Given the description of an element on the screen output the (x, y) to click on. 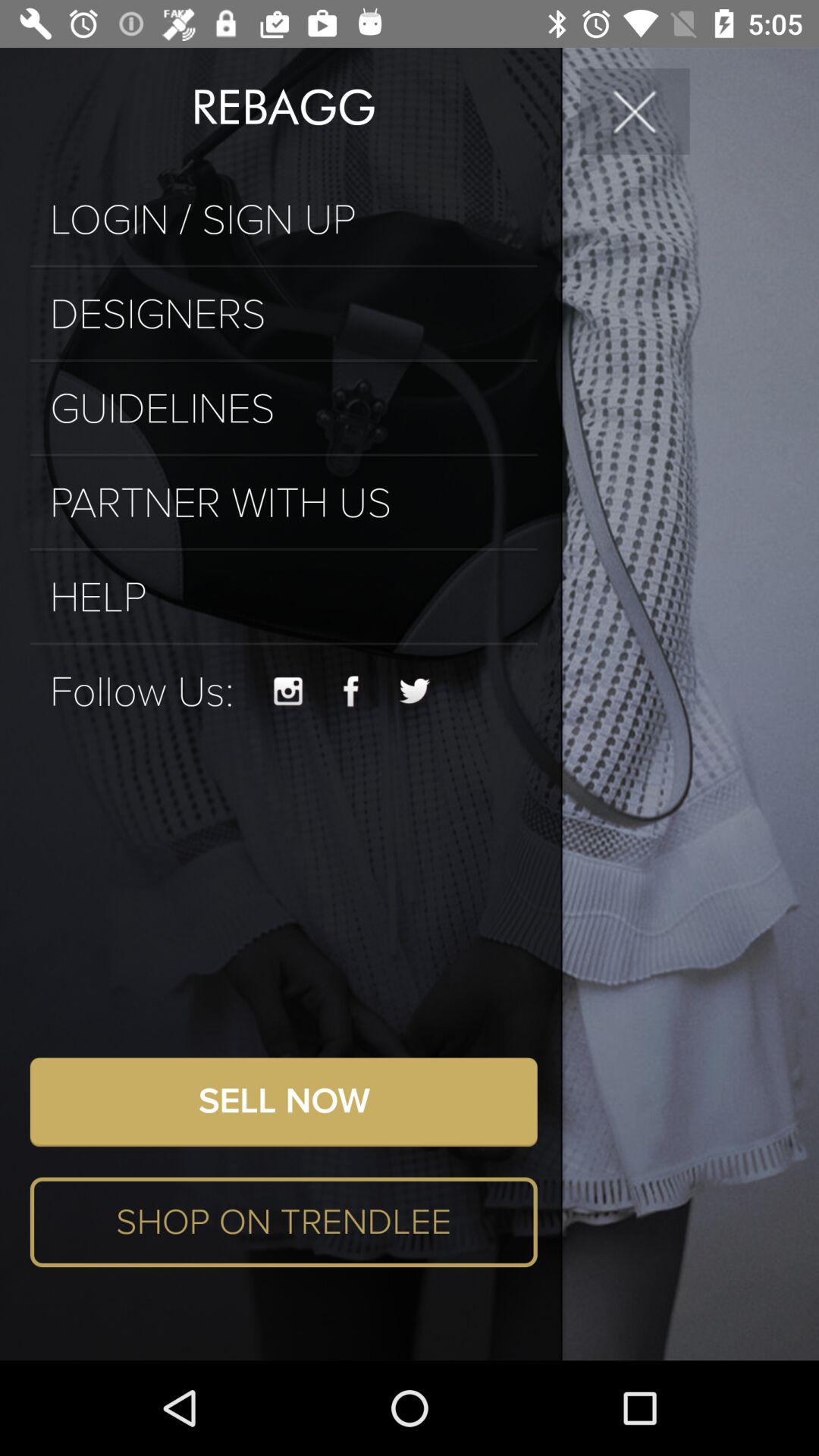
scroll to the sell now item (283, 1102)
